Given the description of an element on the screen output the (x, y) to click on. 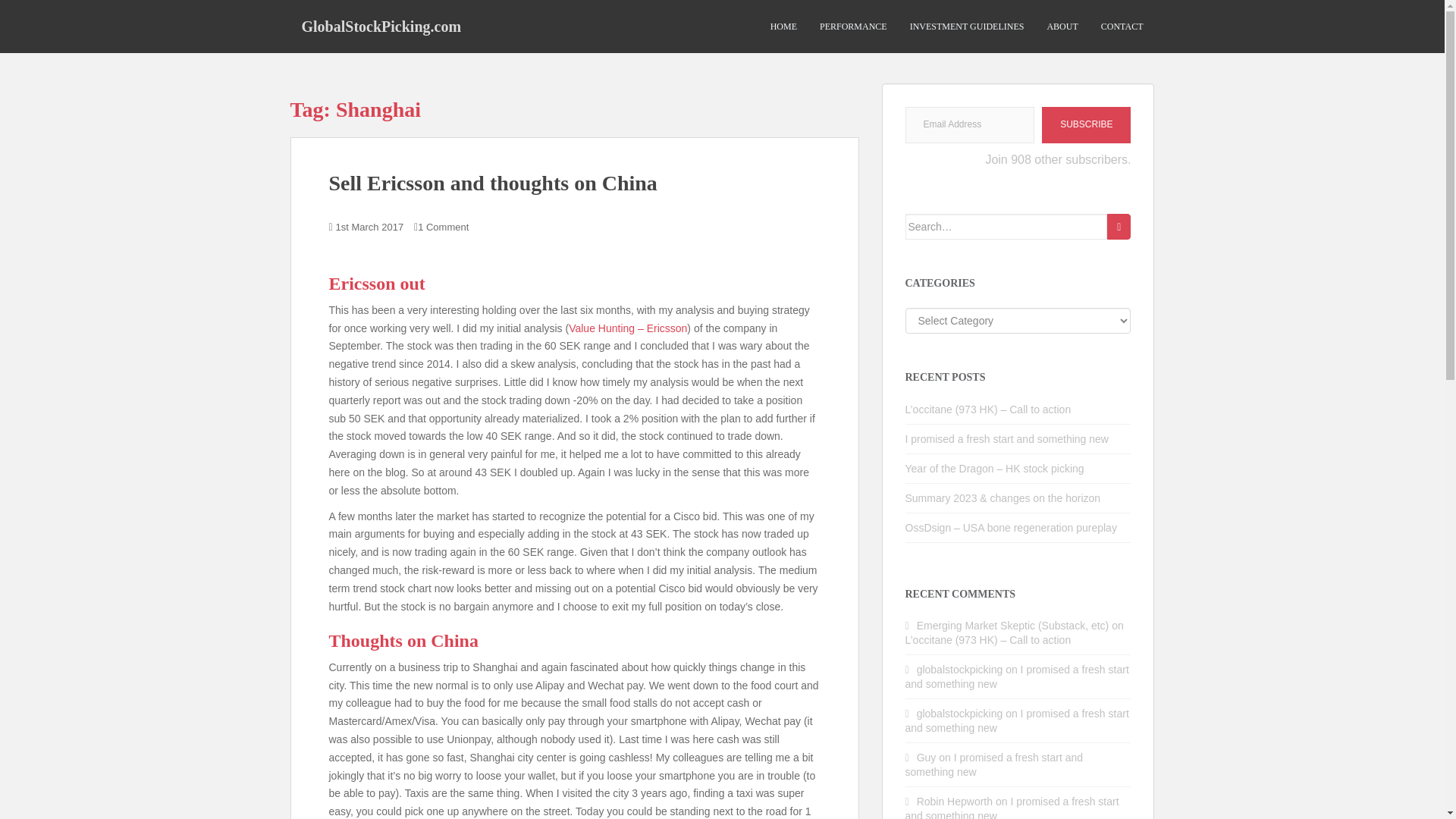
I promised a fresh start and something new (1017, 676)
Search for: (1006, 226)
I promised a fresh start and something new (994, 764)
GlobalStockPicking.com (380, 26)
Sell Ericsson and thoughts on China (493, 182)
1st March 2017 (370, 226)
PERFORMANCE (852, 26)
ABOUT (1061, 26)
I promised a fresh start and something new (1012, 807)
I promised a fresh start and something new (1006, 439)
CONTACT (1121, 26)
GlobalStockPicking.com (380, 26)
I promised a fresh start and something new (1017, 720)
1 Comment (442, 226)
SUBSCRIBE (1086, 125)
